Given the description of an element on the screen output the (x, y) to click on. 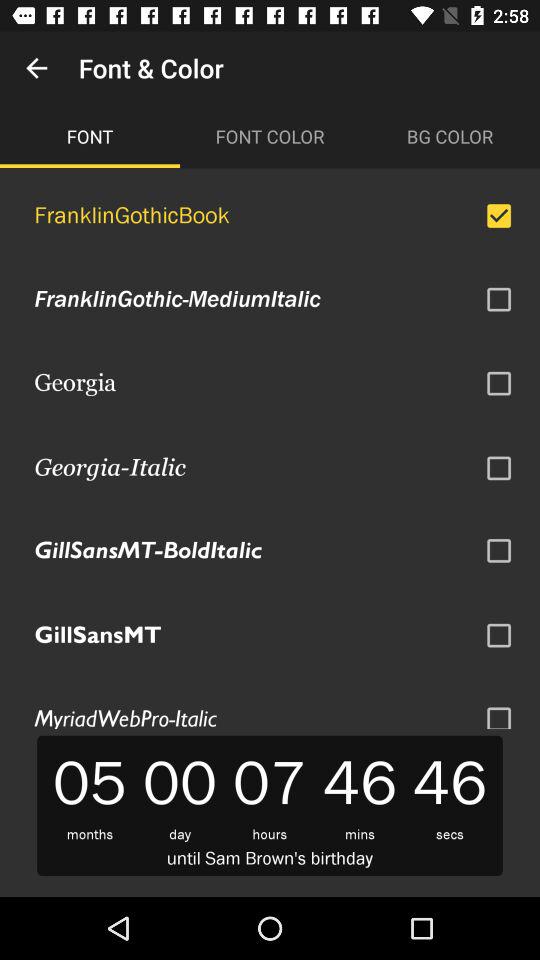
open the icon next to font & color item (36, 68)
